Given the description of an element on the screen output the (x, y) to click on. 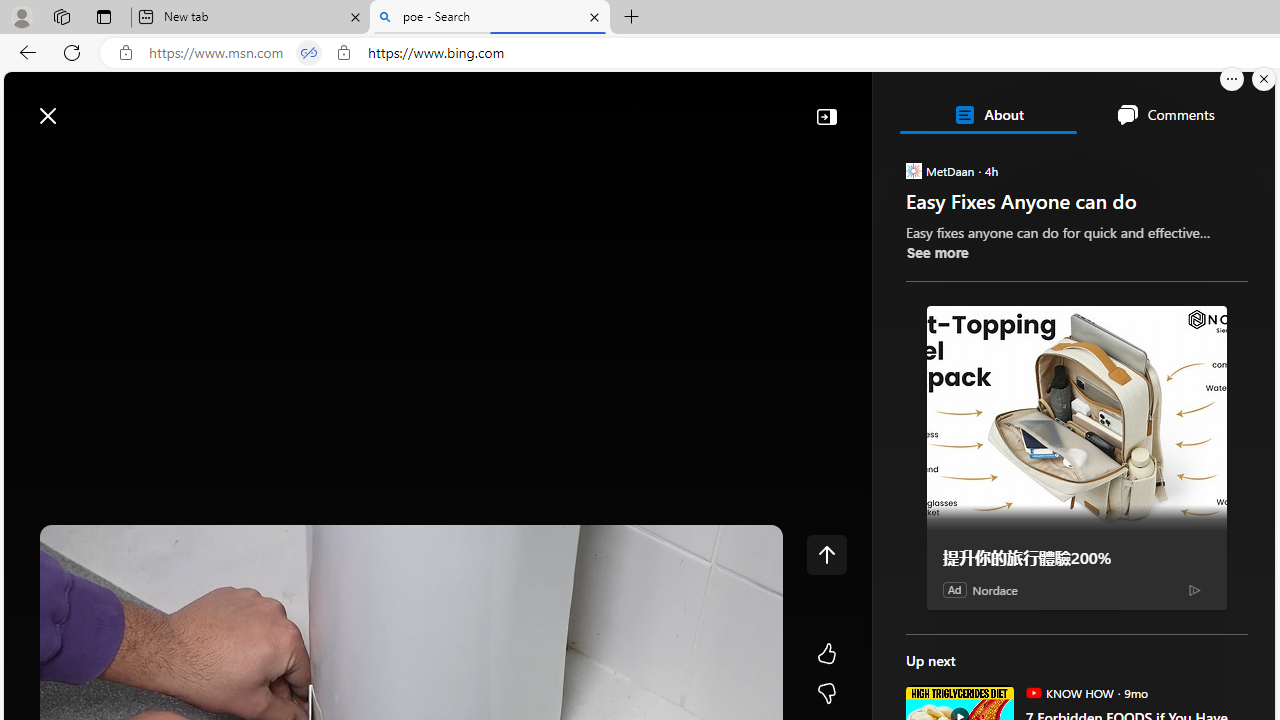
Collapse (826, 115)
Open navigation menu (29, 162)
KNOW HOW KNOW HOW (1069, 692)
The Associated Press (974, 645)
